Given the description of an element on the screen output the (x, y) to click on. 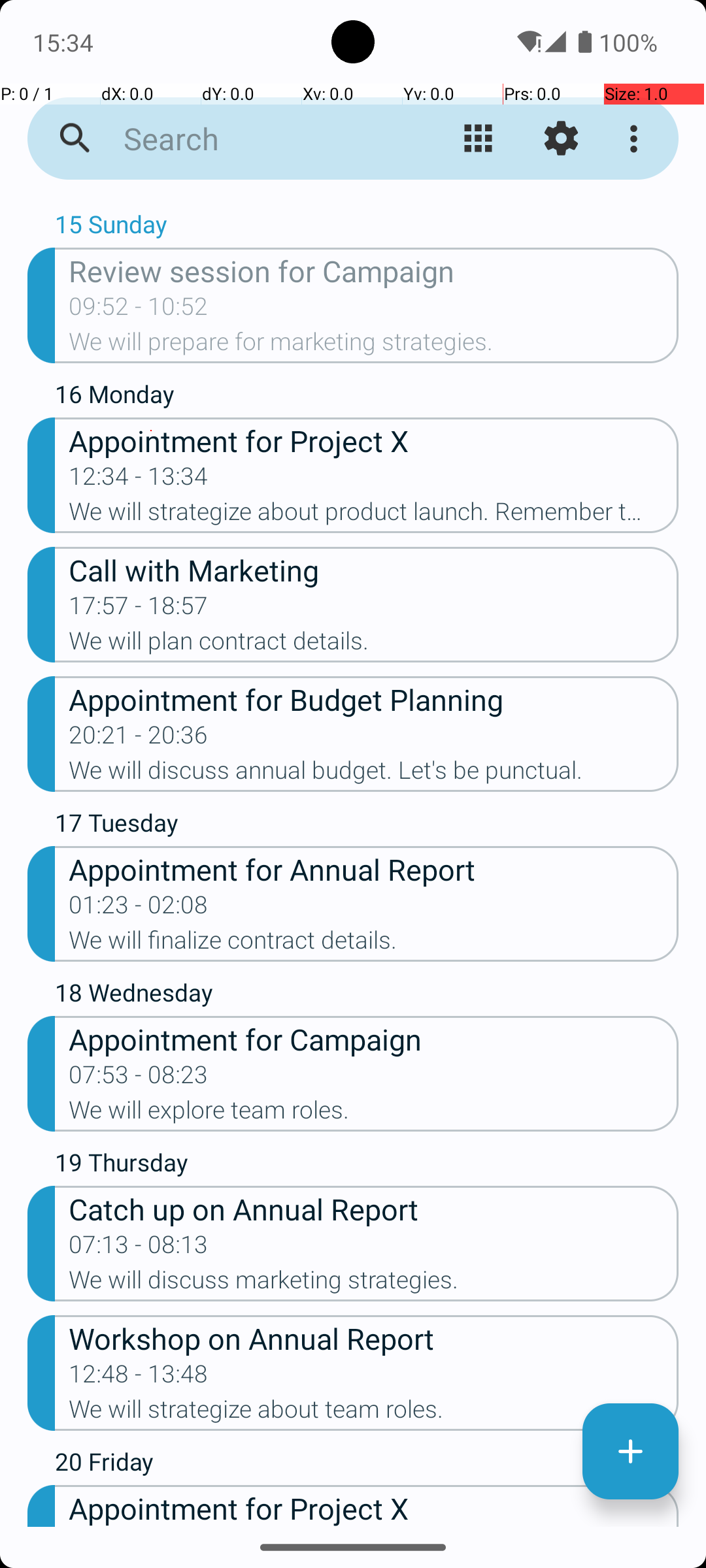
09:52 - 10:52 Element type: android.widget.TextView (137, 309)
We will prepare for marketing strategies. Element type: android.widget.TextView (373, 345)
12:34 - 13:34 Element type: android.widget.TextView (137, 479)
We will strategize about product launch. Remember to confirm attendance. Element type: android.widget.TextView (373, 515)
17:57 - 18:57 Element type: android.widget.TextView (137, 609)
We will plan contract details. Element type: android.widget.TextView (373, 644)
20:21 - 20:36 Element type: android.widget.TextView (137, 738)
We will discuss annual budget. Let's be punctual. Element type: android.widget.TextView (373, 773)
01:23 - 02:08 Element type: android.widget.TextView (137, 908)
We will finalize contract details. Element type: android.widget.TextView (373, 943)
07:53 - 08:23 Element type: android.widget.TextView (137, 1078)
We will explore team roles. Element type: android.widget.TextView (373, 1113)
07:13 - 08:13 Element type: android.widget.TextView (137, 1248)
We will discuss marketing strategies. Element type: android.widget.TextView (373, 1283)
12:48 - 13:48 Element type: android.widget.TextView (137, 1377)
We will strategize about team roles. Element type: android.widget.TextView (373, 1412)
